Given the description of an element on the screen output the (x, y) to click on. 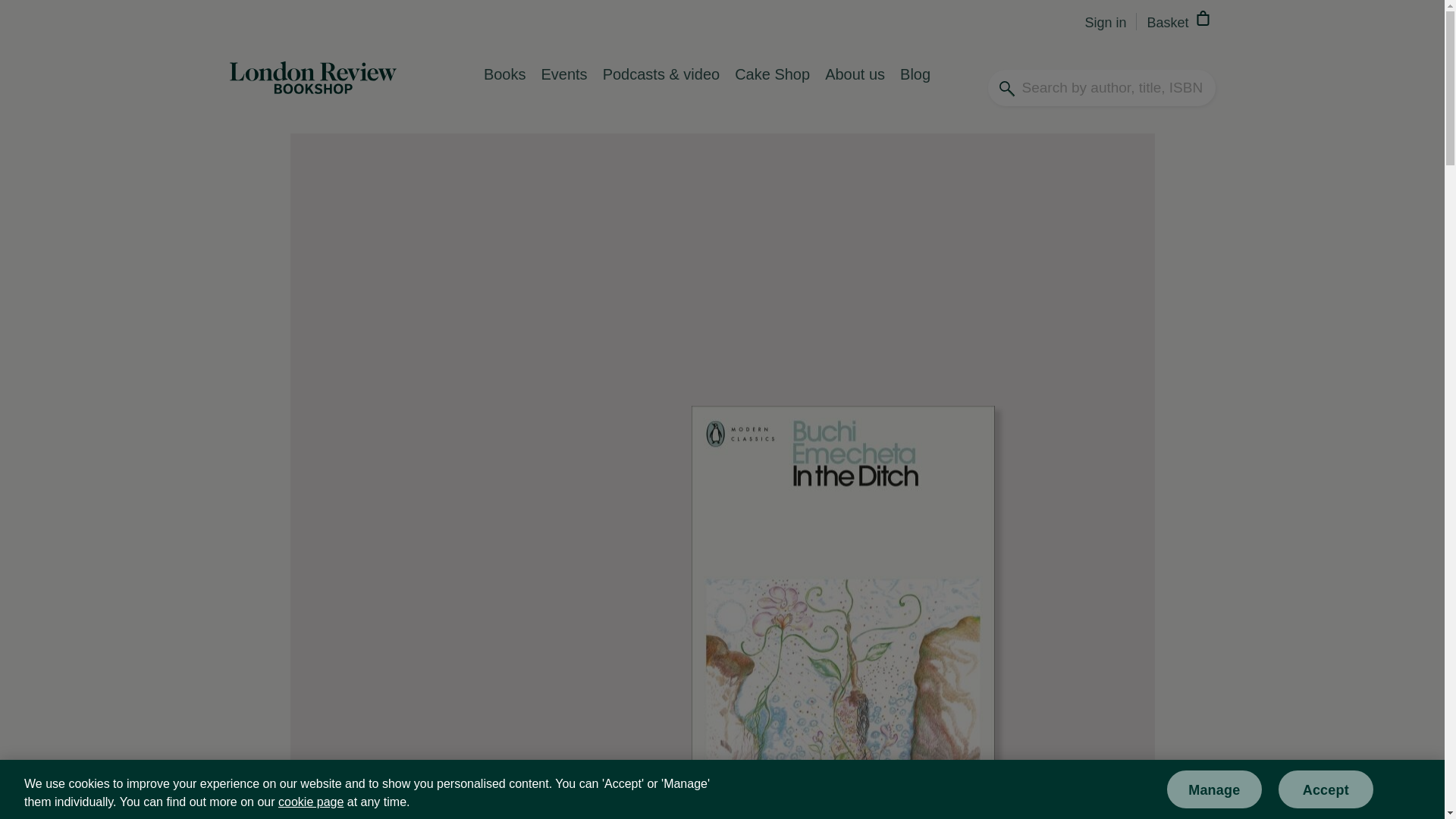
Books (505, 89)
Basket (1180, 20)
Sign in (1104, 22)
London Review Bookshop (312, 89)
About us (854, 89)
Submit (1268, 70)
Blog (914, 89)
Cake Shop (771, 89)
Events (563, 89)
